Given the description of an element on the screen output the (x, y) to click on. 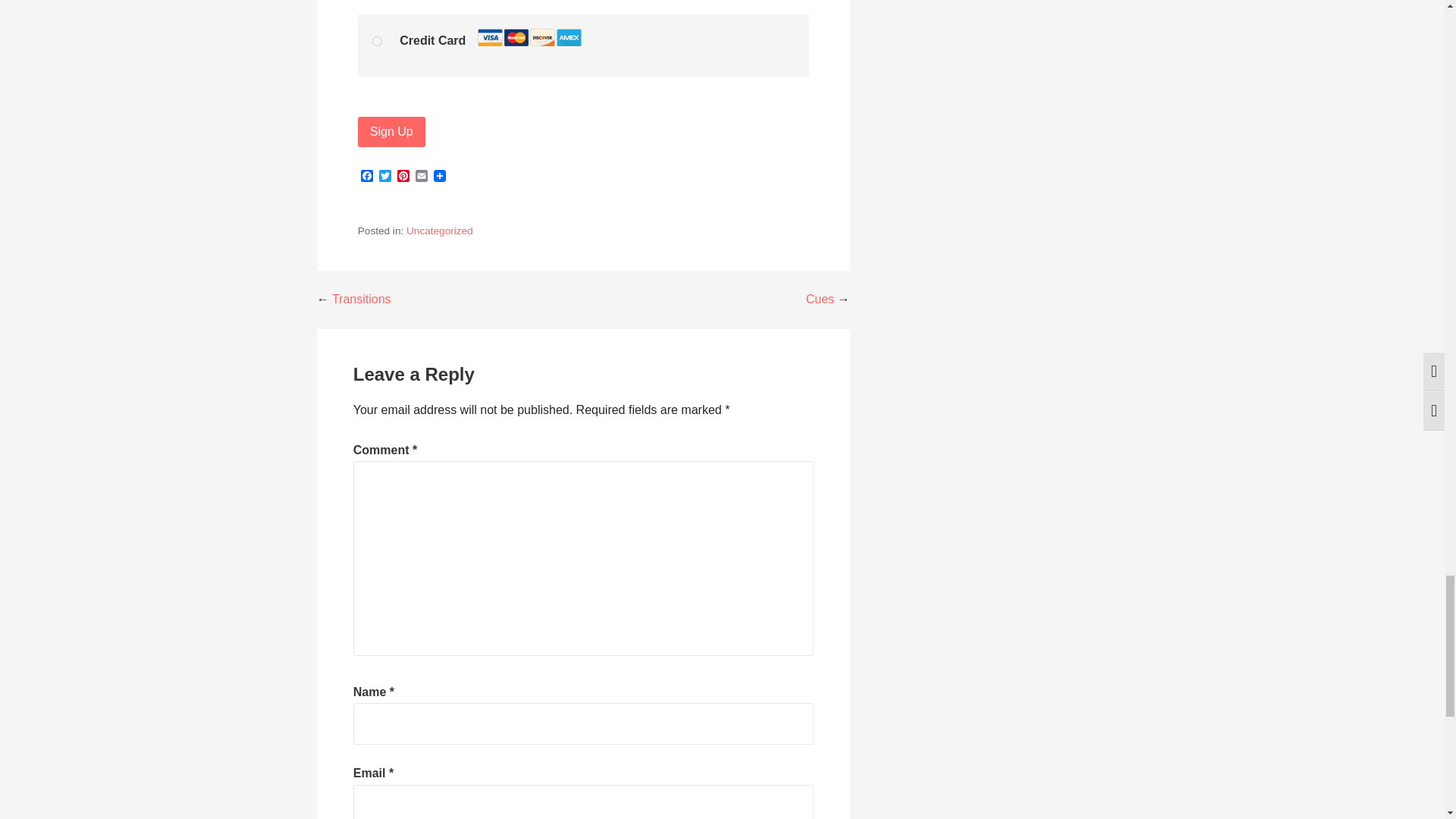
Twitter (384, 176)
Sign Up (391, 132)
Sign Up (391, 132)
Uncategorized (439, 230)
Facebook (366, 176)
Pinterest (403, 176)
oj7txu-5jx (376, 40)
Email (421, 176)
Transitions (361, 298)
Cues (820, 298)
